Given the description of an element on the screen output the (x, y) to click on. 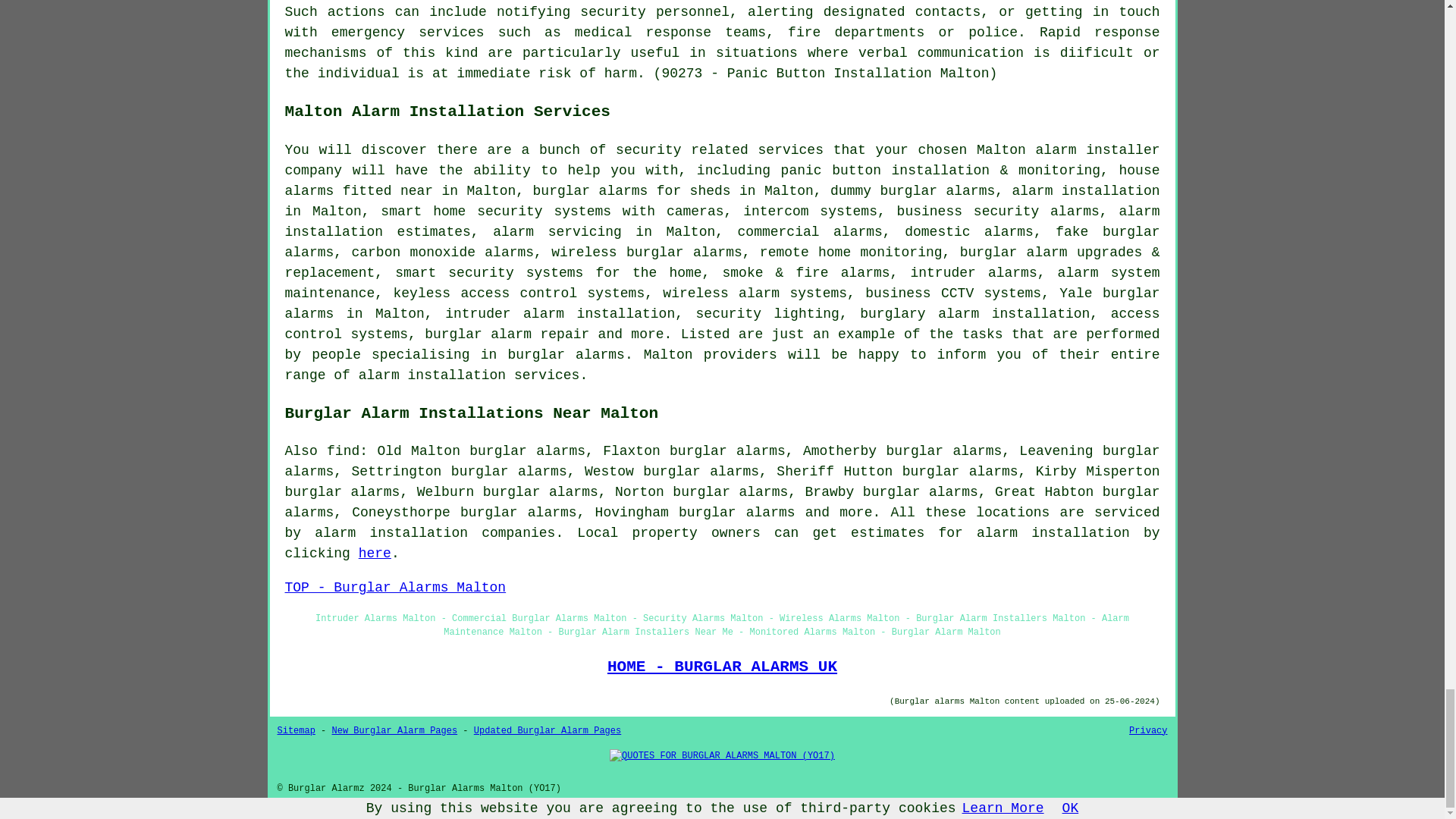
house alarms fitted near (722, 180)
intruder alarms (973, 272)
